Given the description of an element on the screen output the (x, y) to click on. 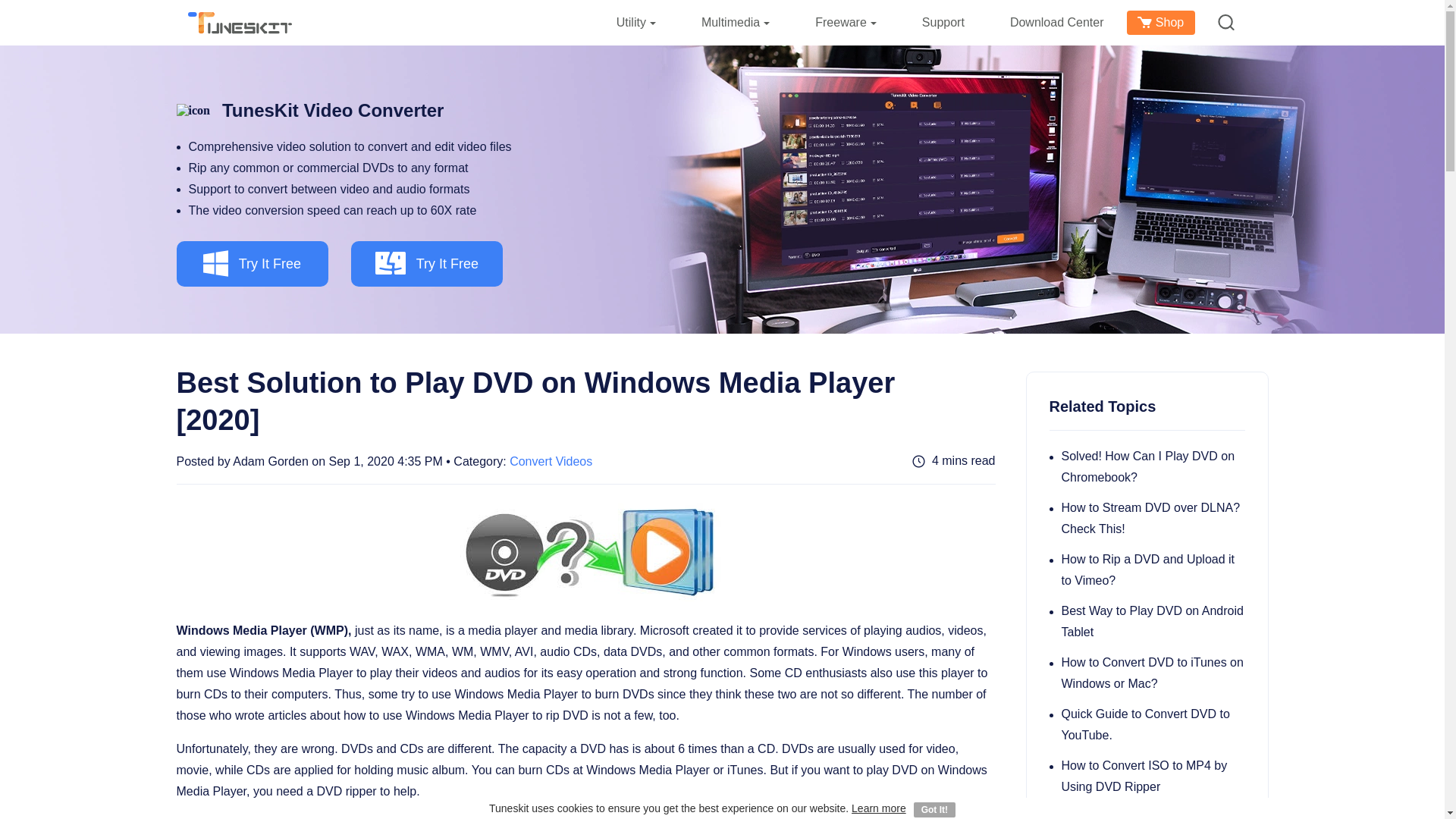
Support (943, 22)
Shop (1160, 22)
Convert Videos (550, 461)
Try It Free (426, 263)
Download Center (1056, 22)
TunesKit Video Converter (310, 110)
Try It Free (251, 263)
